Given the description of an element on the screen output the (x, y) to click on. 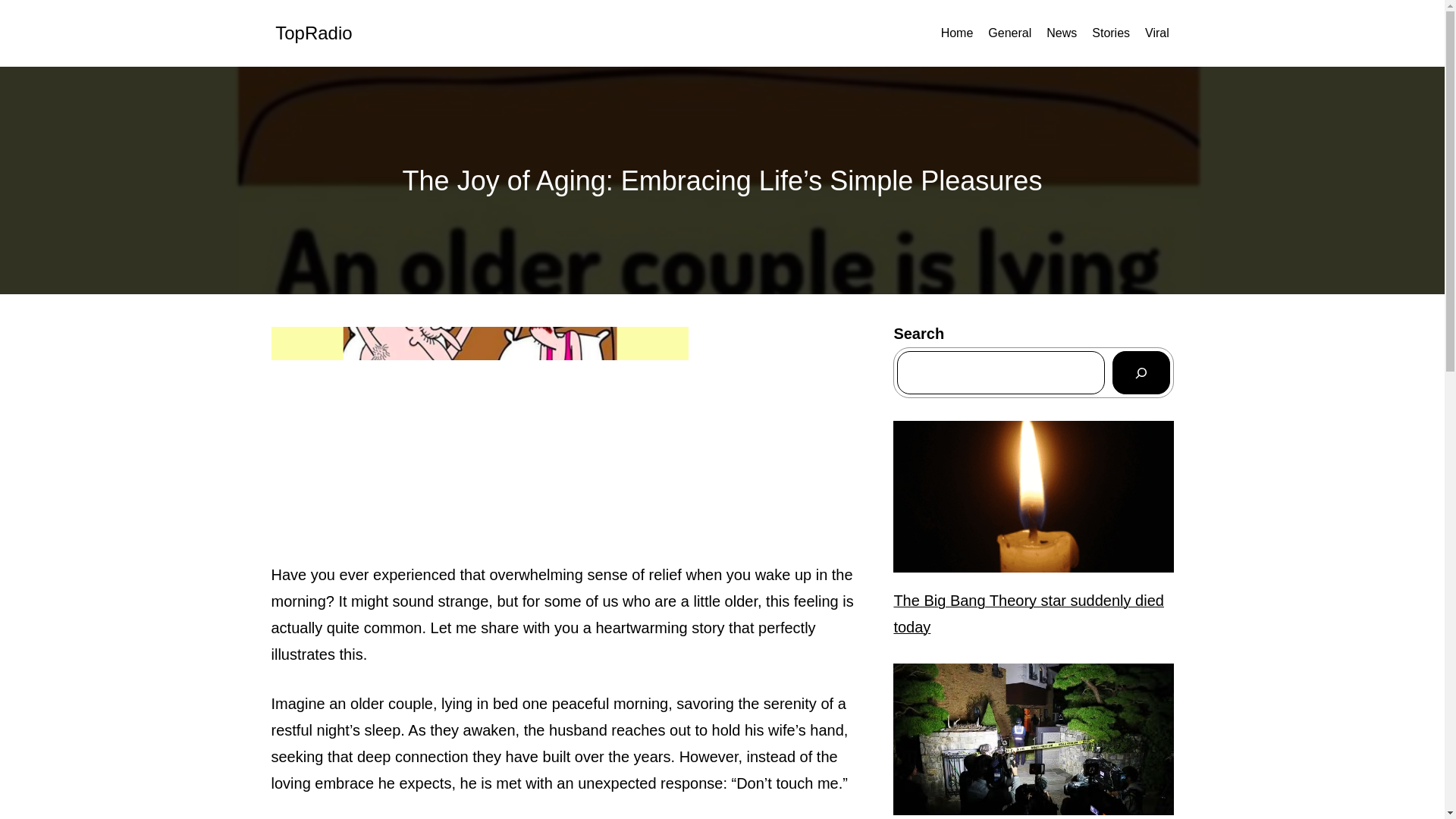
Home (957, 33)
News (1061, 33)
Viral (1156, 33)
General (1009, 33)
Stories (1110, 33)
TopRadio (313, 32)
The Big Bang Theory star suddenly died today (1033, 614)
